Given the description of an element on the screen output the (x, y) to click on. 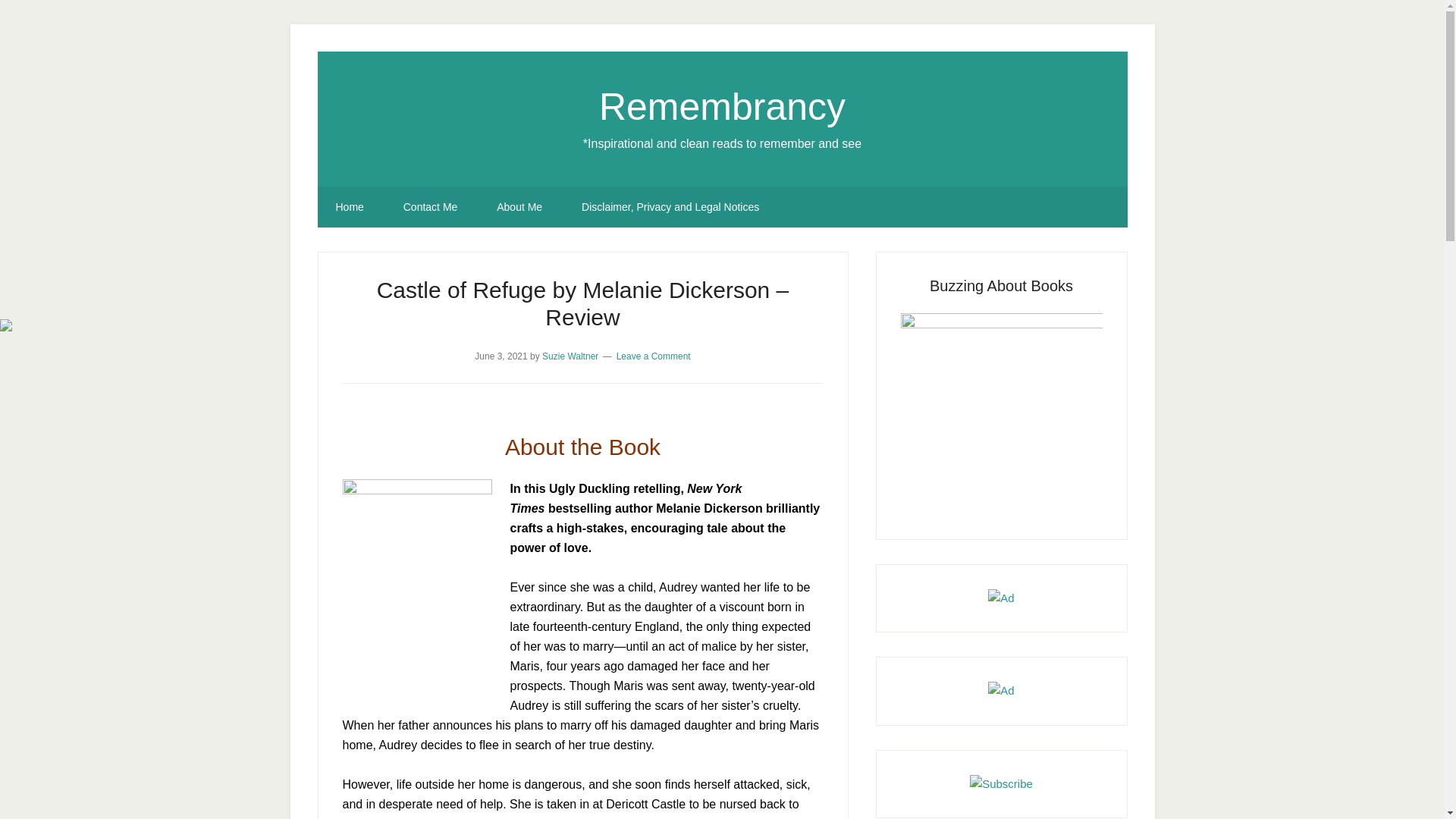
Disclaimer, Privacy and Legal Notices (670, 206)
Contact Me (430, 206)
Home (349, 206)
Remembrancy (721, 106)
About Me (519, 206)
Suzie Waltner (569, 356)
Leave a Comment (652, 356)
